Given the description of an element on the screen output the (x, y) to click on. 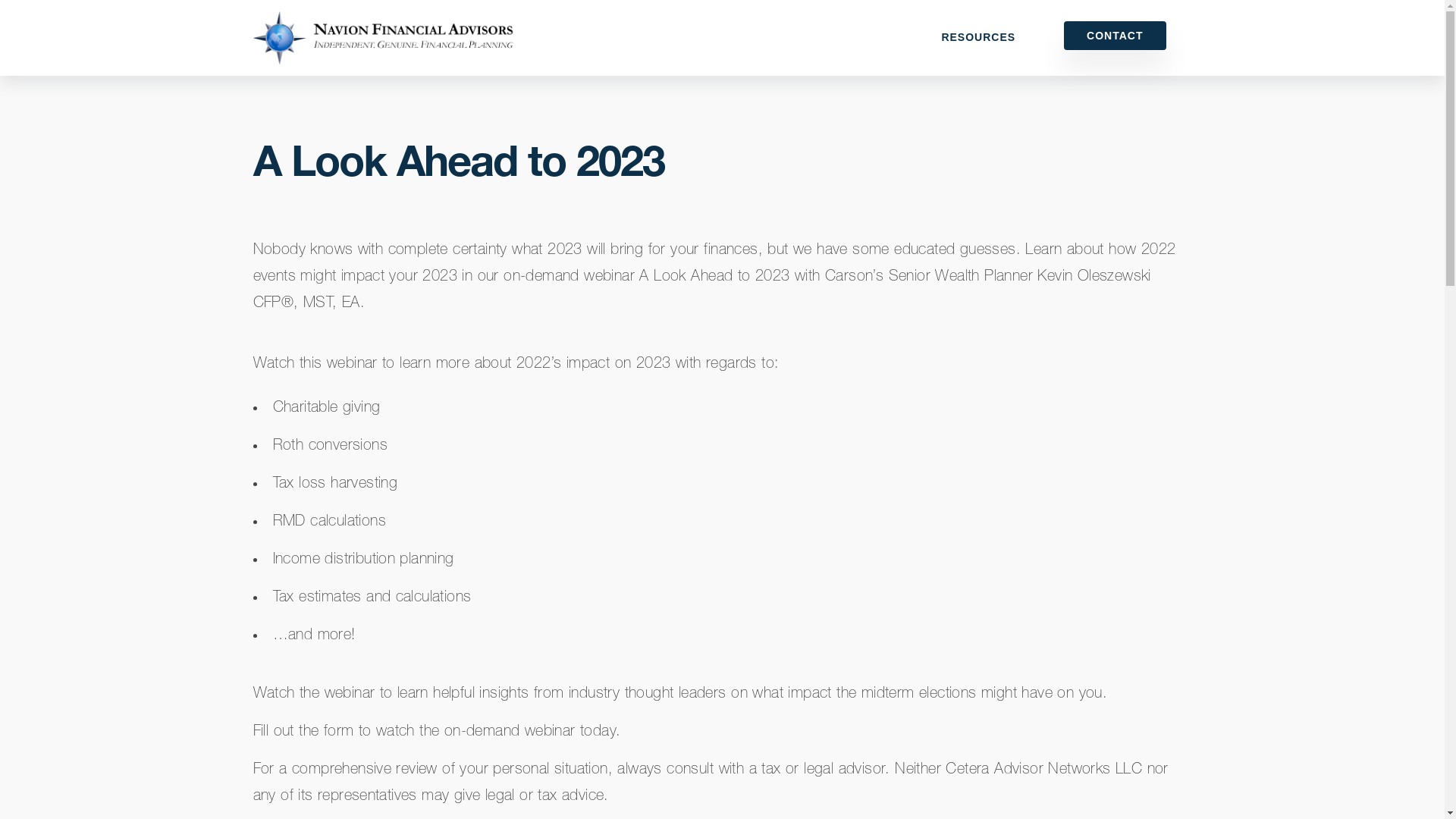
RESOURCES (978, 38)
CONTACT (1115, 35)
